Given the description of an element on the screen output the (x, y) to click on. 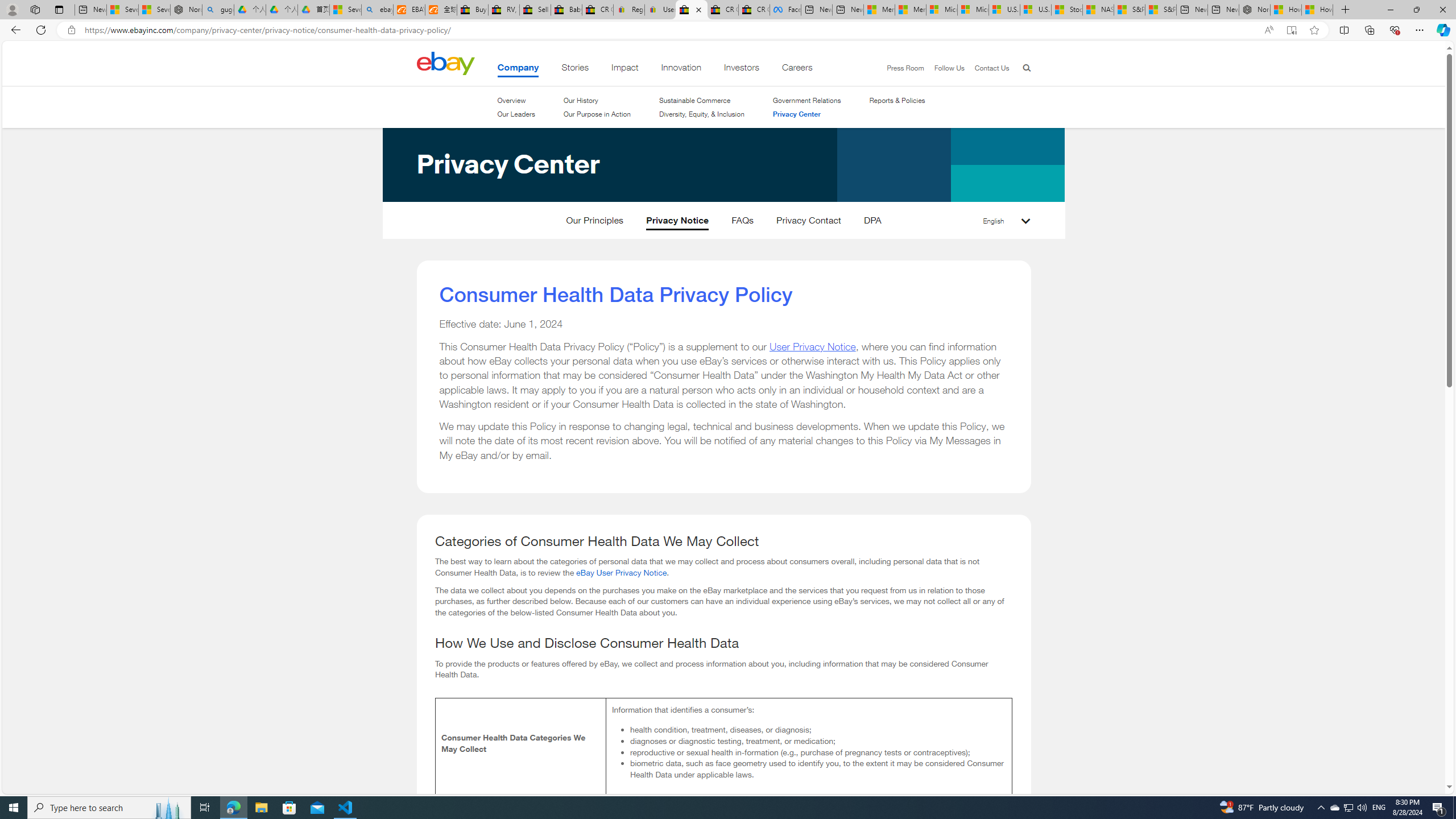
Our Purpose in Action (596, 113)
Privacy Notice (677, 222)
FAQs (742, 222)
Facebook (785, 9)
health condition, treatment, diseases, or diagnosis; (817, 729)
eBay User Privacy Notice (621, 571)
Impact (625, 69)
Our Leaders (515, 113)
